Given the description of an element on the screen output the (x, y) to click on. 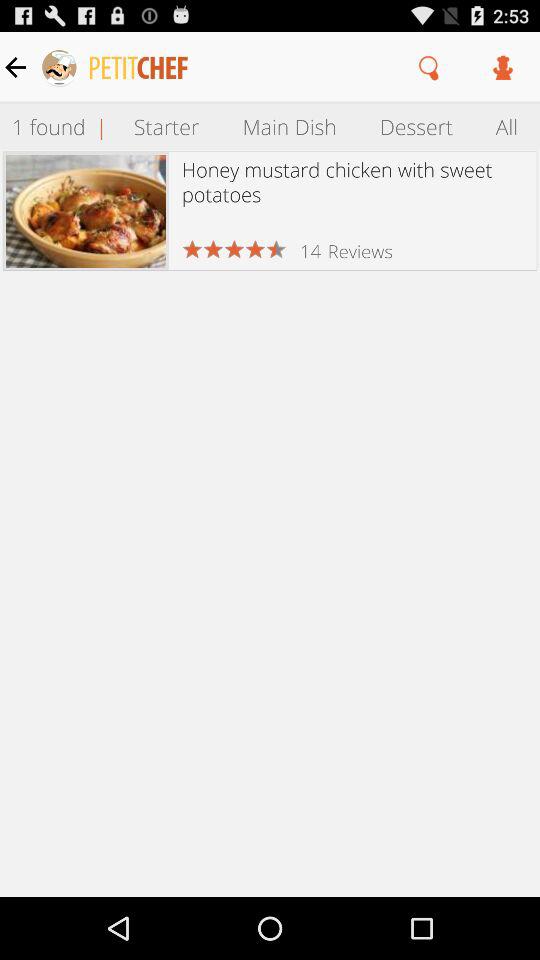
press the icon below honey mustard chicken item (310, 250)
